Given the description of an element on the screen output the (x, y) to click on. 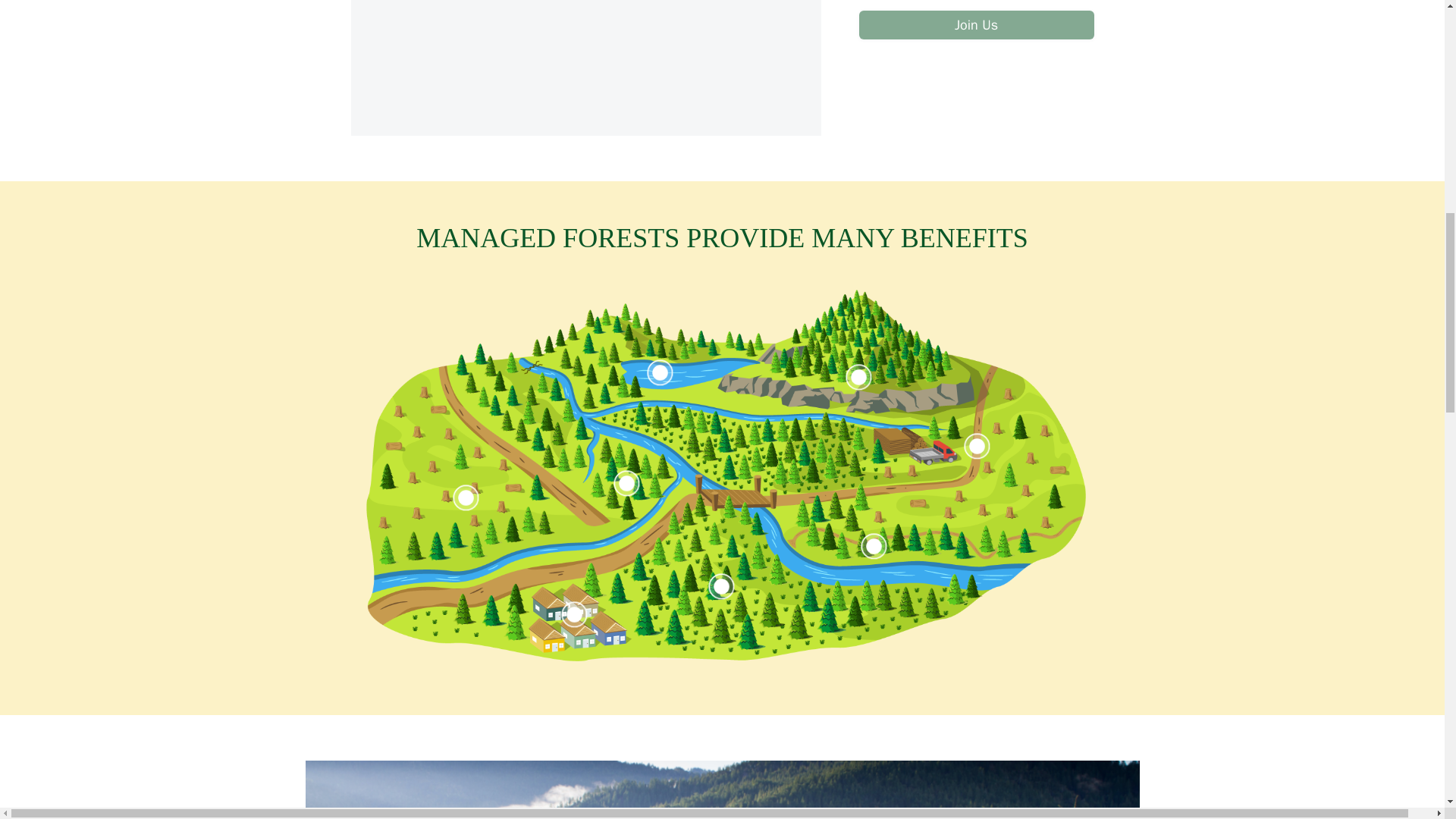
Join Us (976, 24)
Join Us (976, 24)
